Given the description of an element on the screen output the (x, y) to click on. 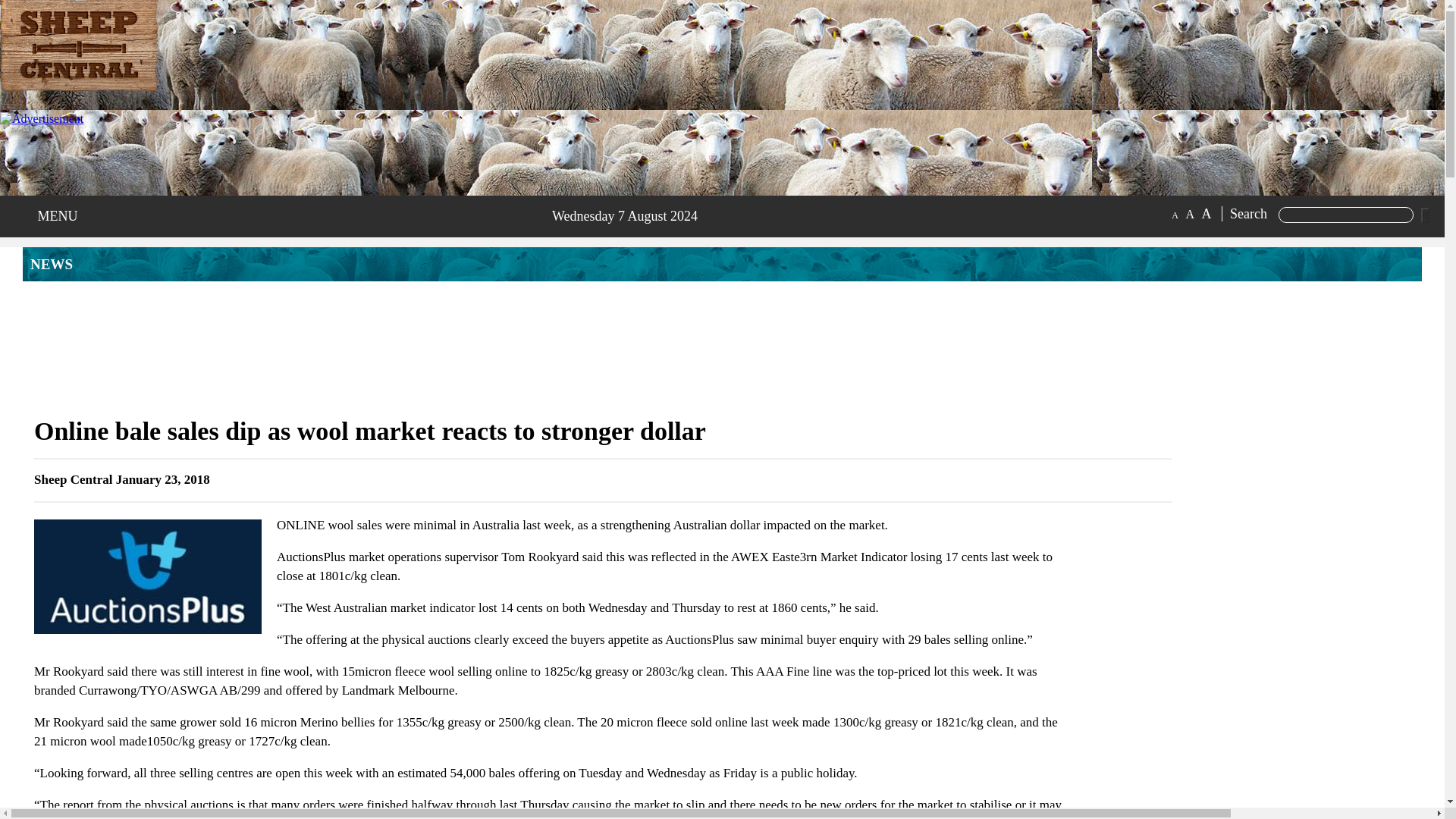
3rd party ad content (1296, 611)
3rd party ad content (189, 146)
MENU (53, 216)
3rd party ad content (721, 346)
